Given the description of an element on the screen output the (x, y) to click on. 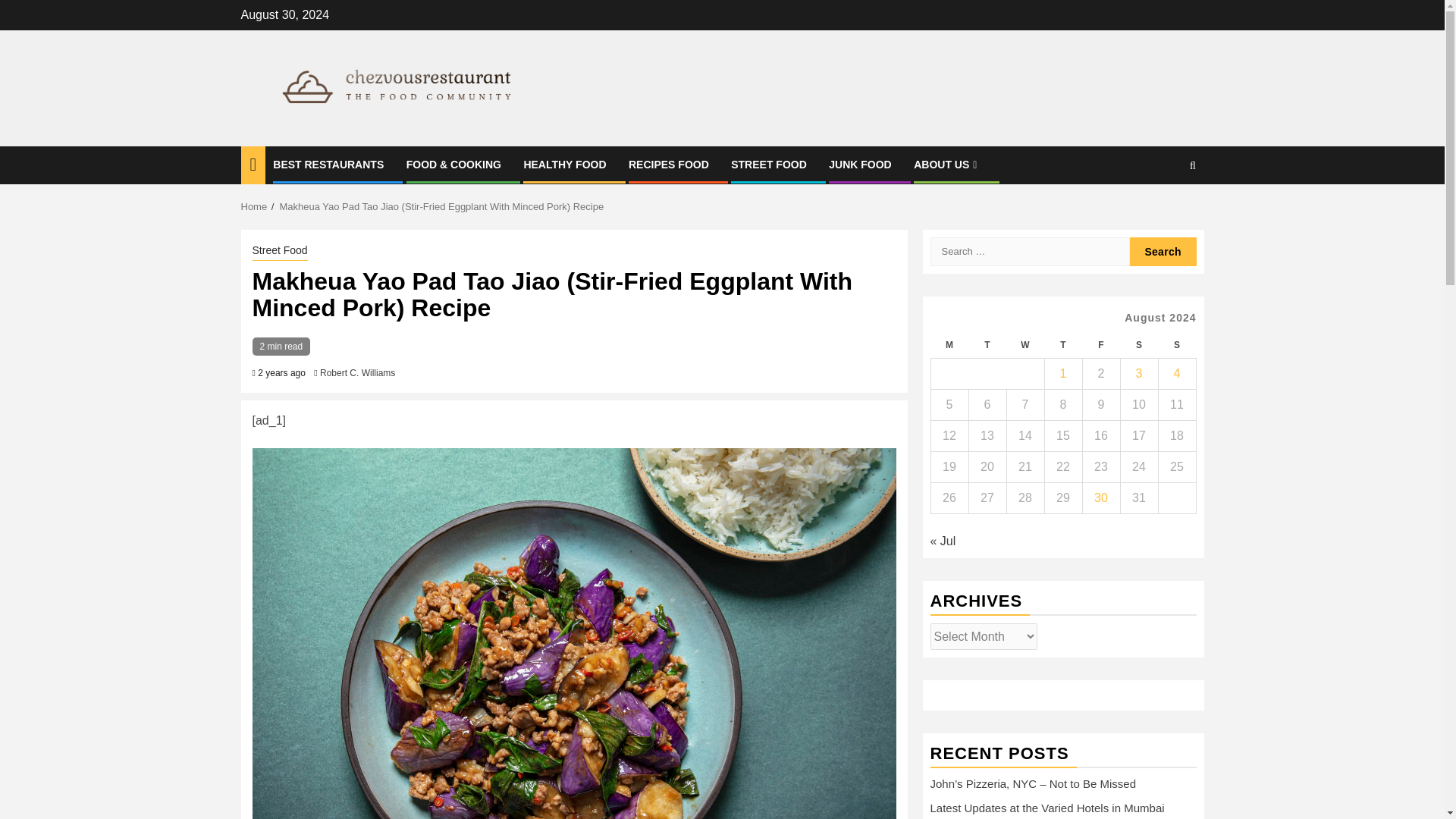
RECIPES FOOD (668, 164)
Search (1162, 251)
BEST RESTAURANTS (328, 164)
Friday (1100, 345)
Thursday (1062, 345)
Search (1163, 211)
Street Food (279, 251)
Search (1162, 251)
Monday (949, 345)
Wednesday (1024, 345)
